Given the description of an element on the screen output the (x, y) to click on. 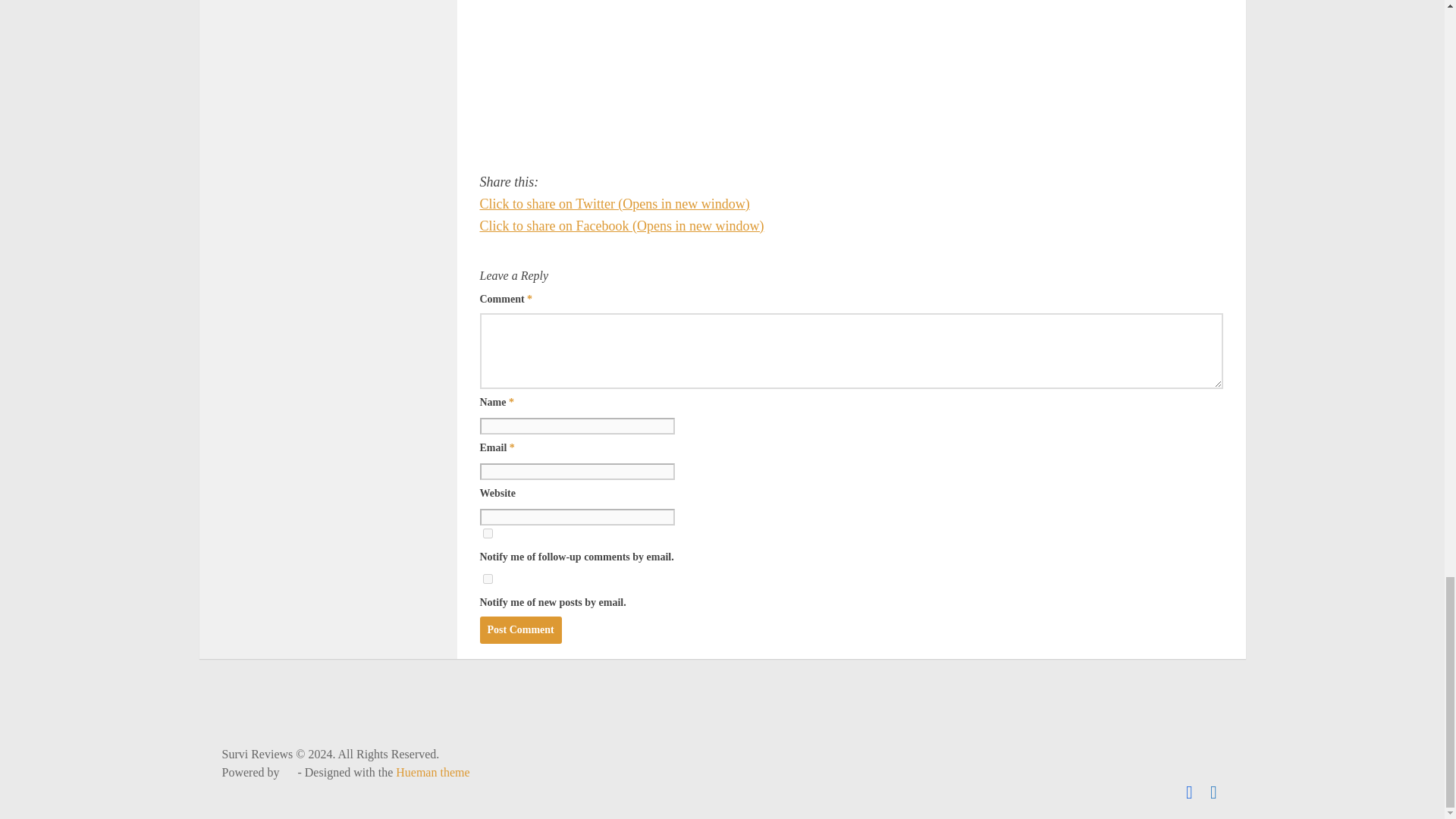
subscribe (486, 533)
Follow me on Facebook (1213, 791)
Follow me on Twitter (1188, 791)
Post Comment (519, 629)
Click to share on Facebook (620, 225)
Hueman theme (432, 771)
Hueman theme (432, 771)
Click to share on Twitter (614, 203)
subscribe (486, 578)
Post Comment (519, 629)
